Given the description of an element on the screen output the (x, y) to click on. 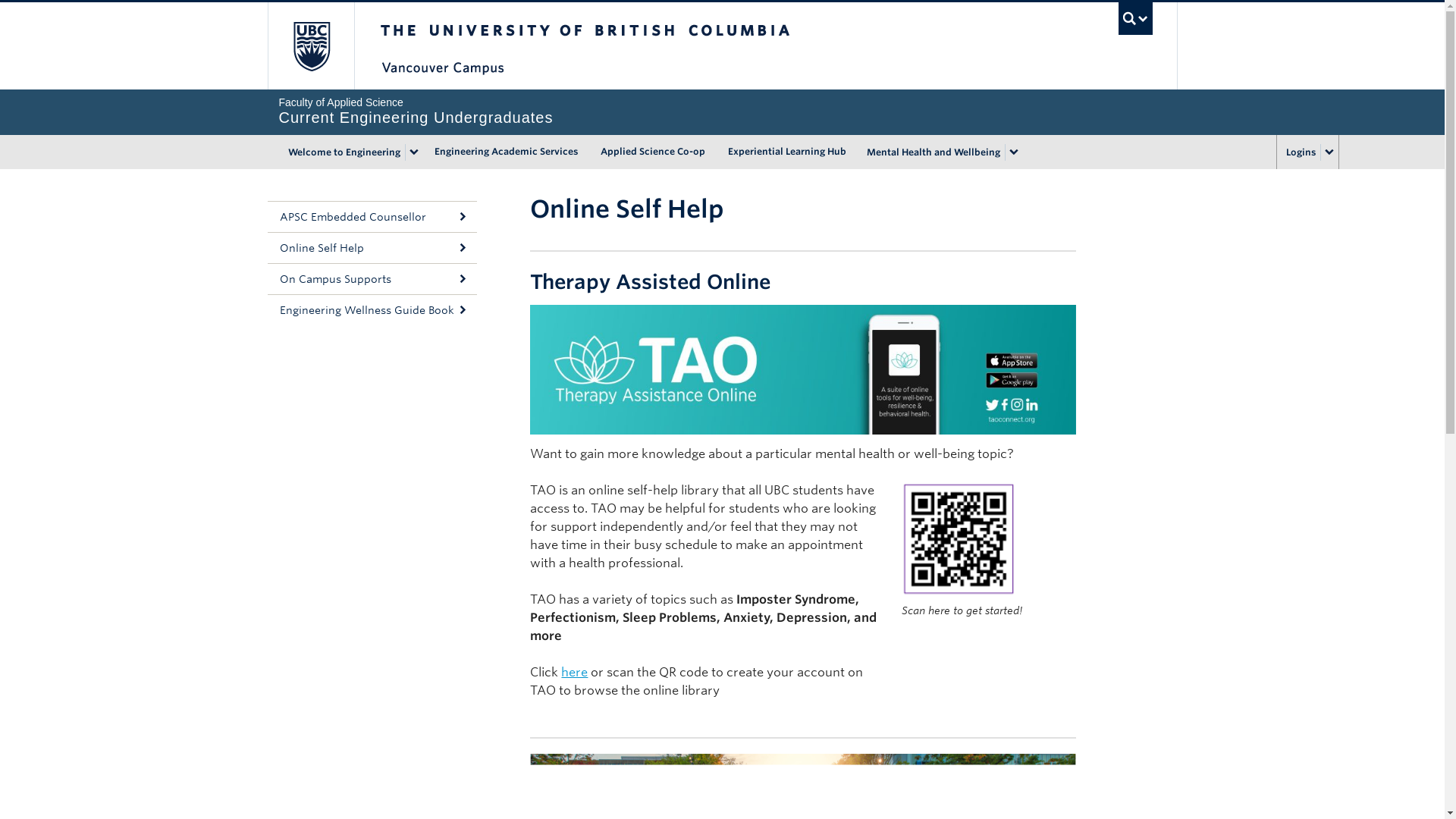
Applied Science Co-op (652, 151)
Logins (1298, 151)
Engineering Academic Services (506, 151)
UBC Search (1135, 18)
Welcome to Engineering (342, 151)
Current Engineering Undergraduates (722, 110)
Experiential Learning Hub (786, 151)
The University of British Columbia (309, 45)
Mental Health and Wellbeing (930, 151)
